Given the description of an element on the screen output the (x, y) to click on. 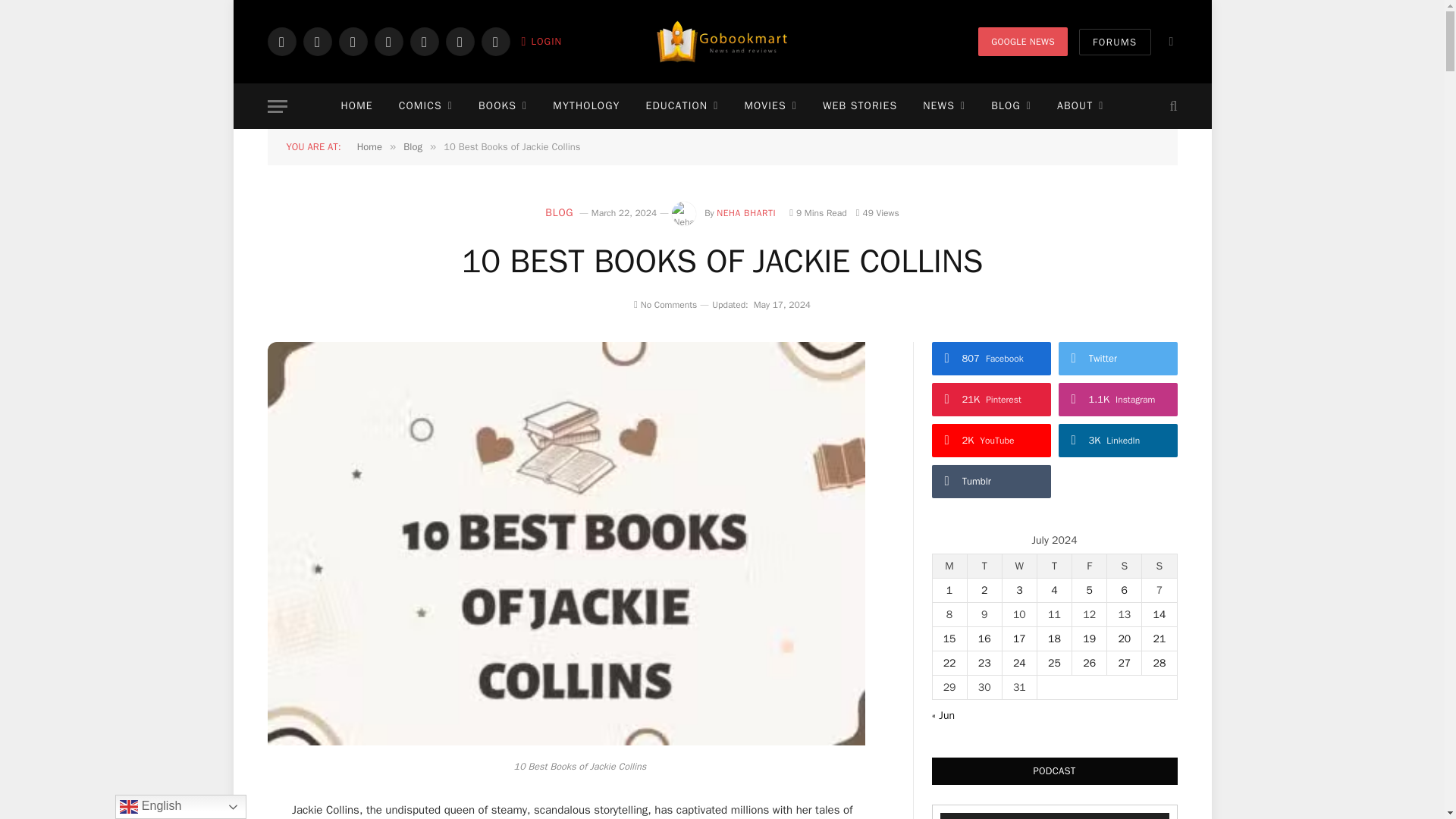
Switch to Dark Design - easier on eyes. (1168, 41)
LOGIN (541, 41)
LinkedIn (459, 41)
Instagram (351, 41)
HOME (356, 105)
49 Article Views (877, 213)
GOOGLE NEWS (1022, 41)
EDUCATION (680, 105)
COMICS (425, 105)
Posts by Neha Bharti (746, 213)
GoBookMart (721, 41)
YouTube (423, 41)
RSS (494, 41)
FORUMS (1114, 41)
